Given the description of an element on the screen output the (x, y) to click on. 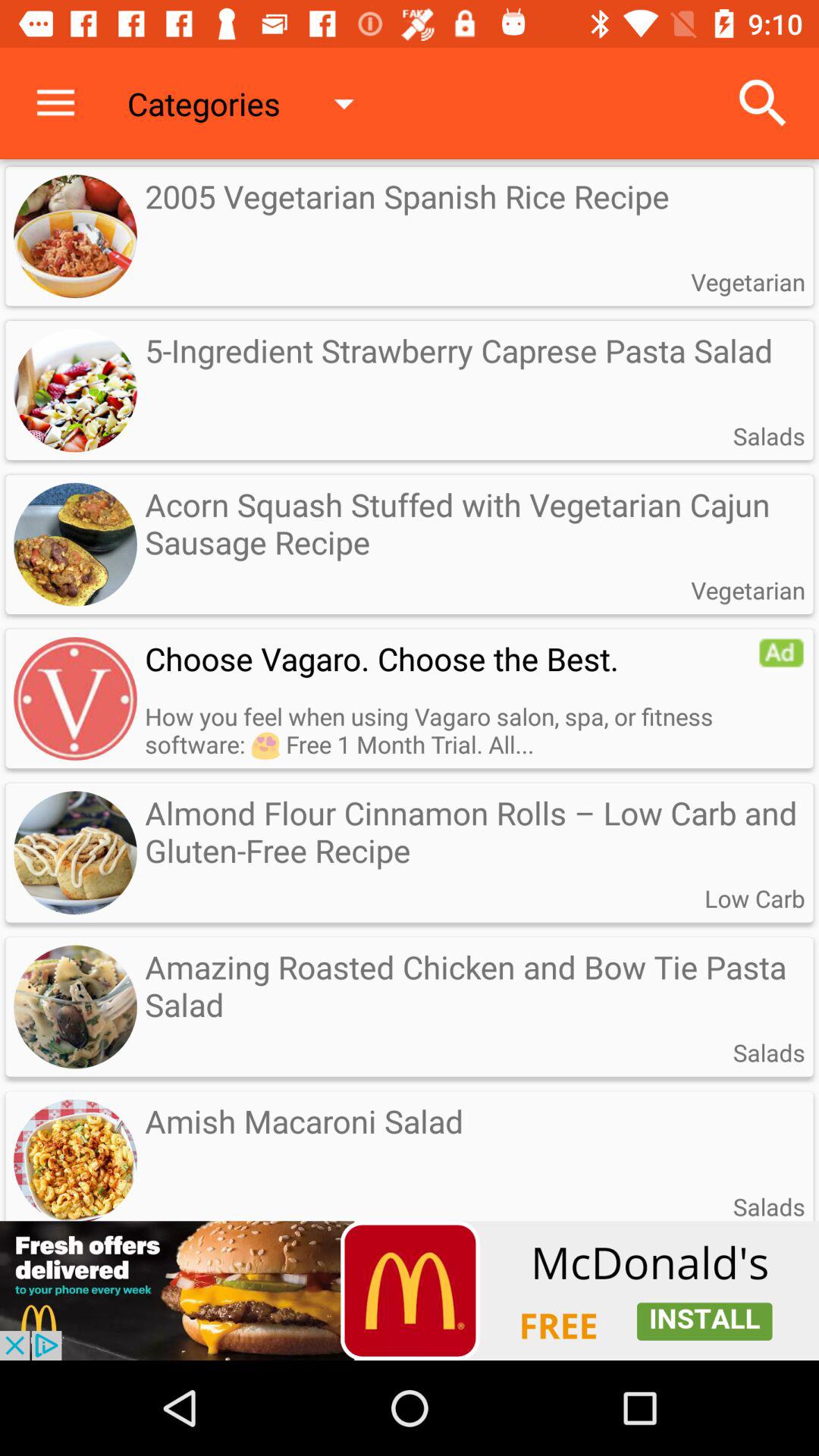
click on the search icon at the top right corner (763, 103)
click on the search icon at the top right corner of the page (763, 103)
